Given the description of an element on the screen output the (x, y) to click on. 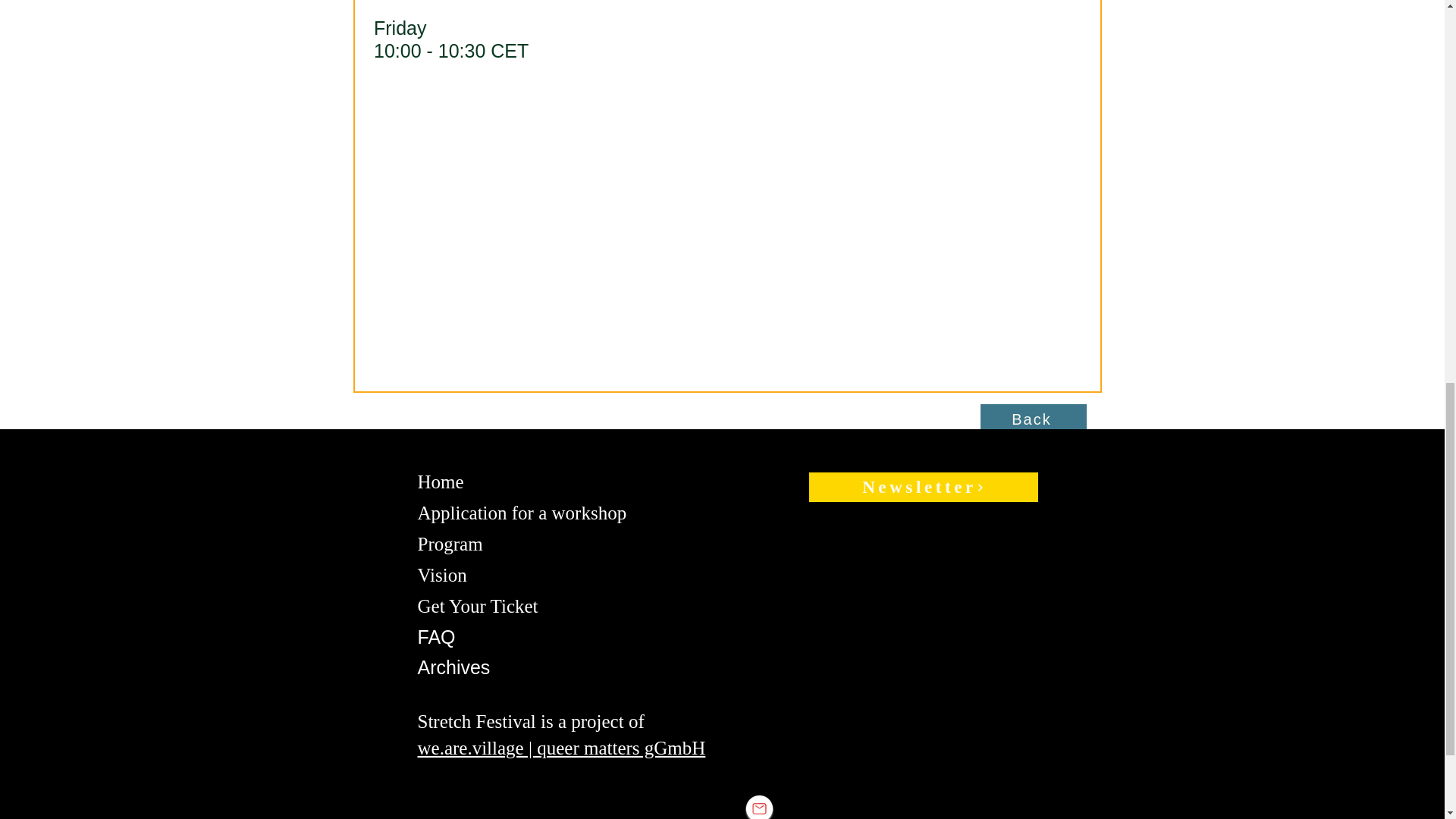
FAQ (435, 636)
Back (1032, 419)
Program (448, 543)
Home (439, 481)
Newsletter (922, 487)
Archives (452, 667)
Vision (440, 574)
Get Your Ticket (476, 605)
Application for a workshop (521, 512)
